Given the description of an element on the screen output the (x, y) to click on. 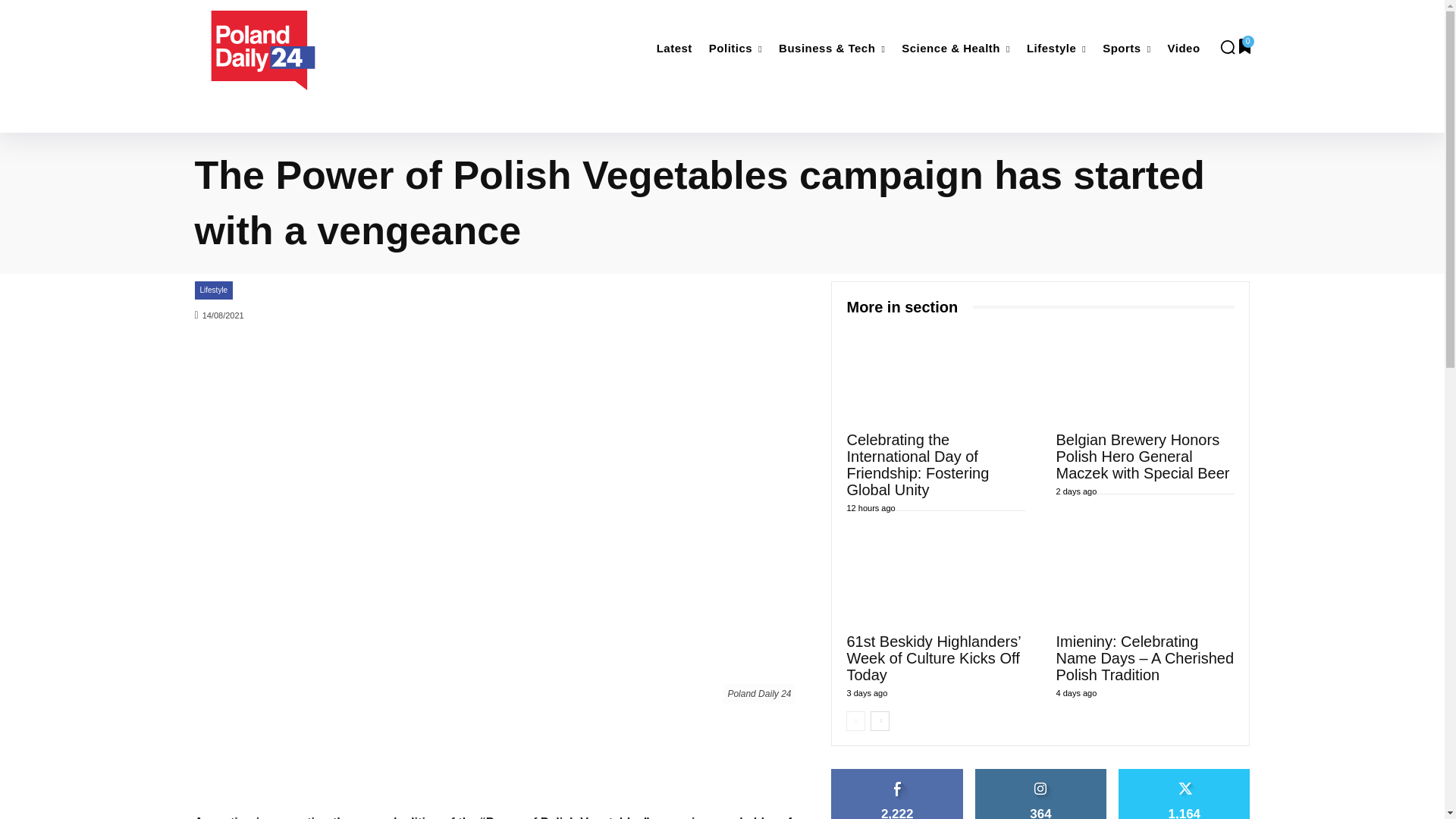
Politics (735, 48)
